Given the description of an element on the screen output the (x, y) to click on. 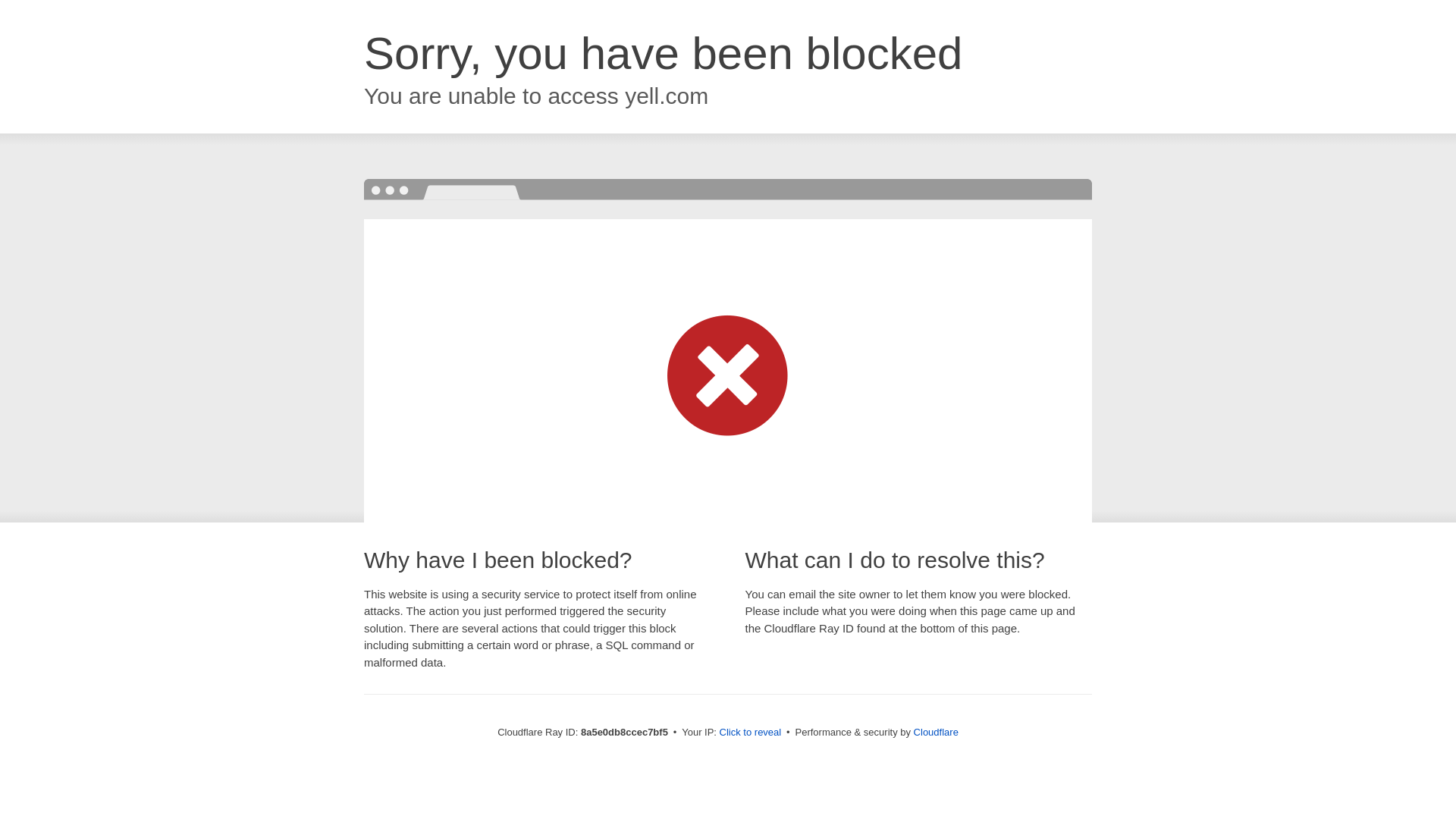
Cloudflare (936, 731)
Click to reveal (750, 732)
